Given the description of an element on the screen output the (x, y) to click on. 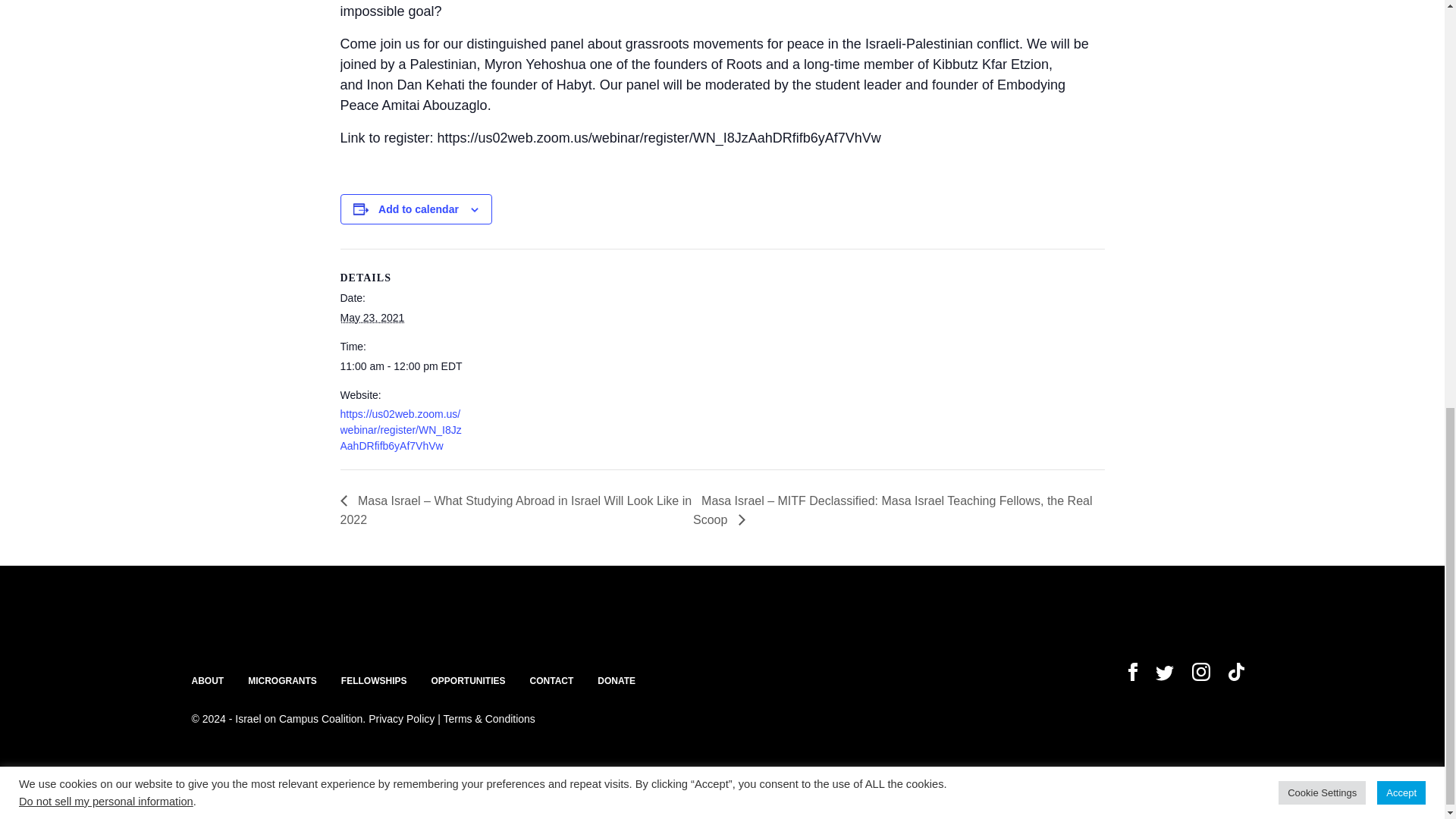
2021-05-23 (371, 317)
CONTACT (551, 680)
DONATE (615, 680)
Privacy Policy (400, 718)
2021-05-23 (403, 366)
Add to calendar (418, 209)
ABOUT (207, 680)
OPPORTUNITIES (467, 680)
MICROGRANTS (282, 680)
FELLOWSHIPS (373, 680)
